Given the description of an element on the screen output the (x, y) to click on. 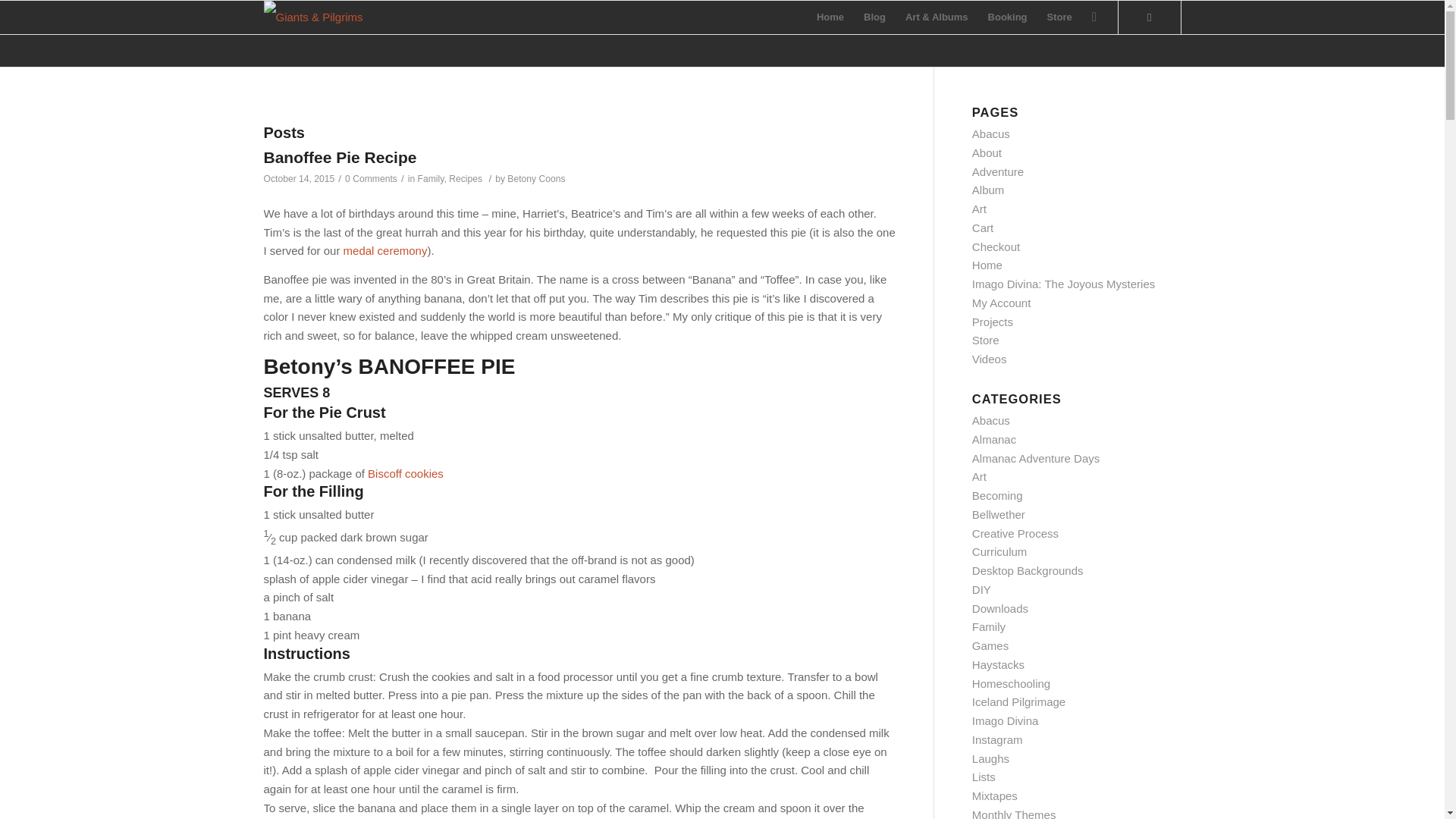
medal ceremony (385, 250)
Biscoff cookies (406, 472)
Adventure (997, 171)
Videos (989, 358)
Recipes (464, 178)
Abacus (991, 420)
Art (979, 476)
My Account (1001, 302)
Store (1058, 17)
Art (979, 208)
Permanent Link: Banoffee Pie Recipe (339, 157)
Abacus (991, 133)
Cart (982, 227)
Betony Coons (535, 178)
Banoffee Pie Recipe (339, 157)
